Given the description of an element on the screen output the (x, y) to click on. 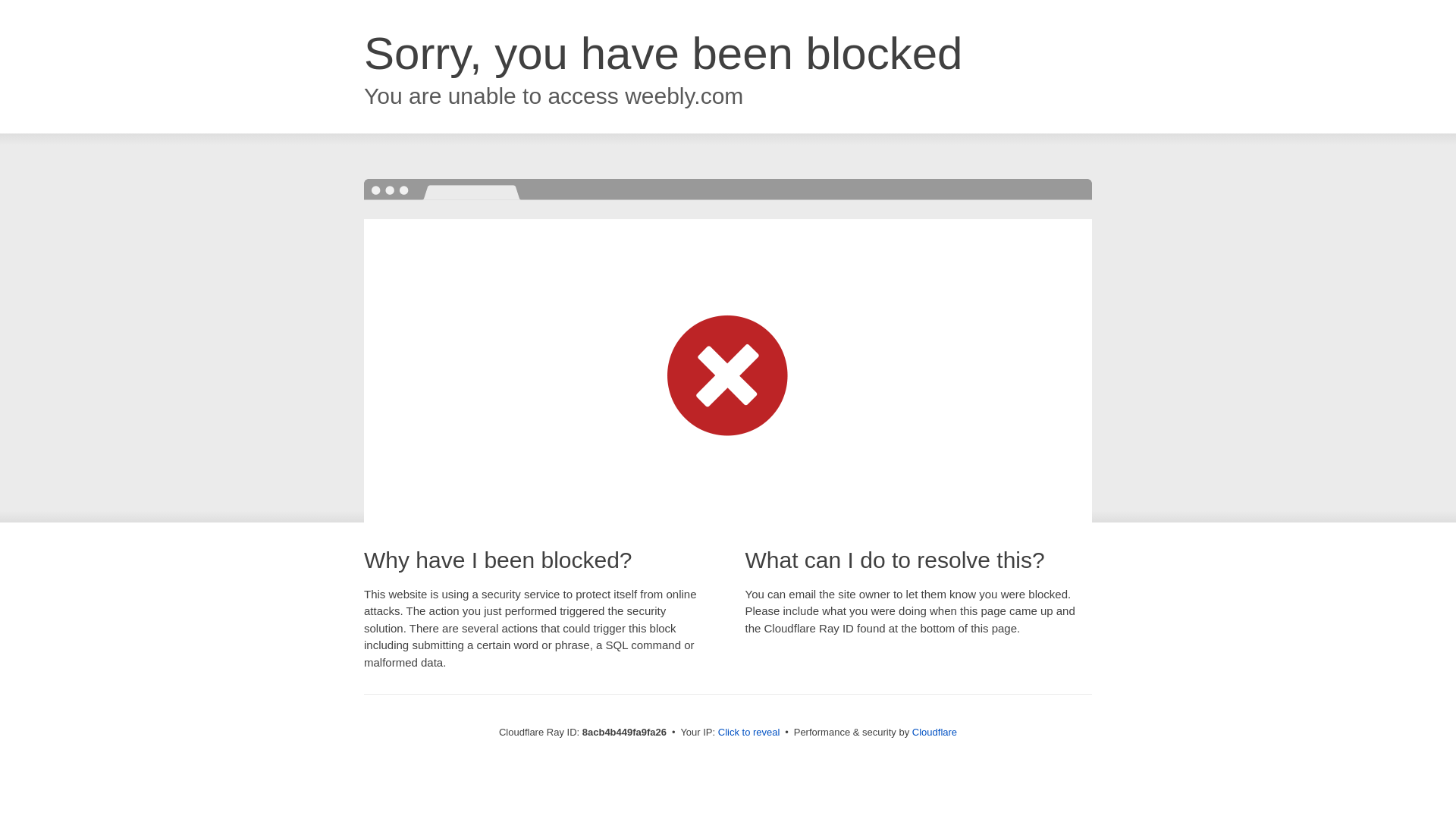
Click to reveal (748, 732)
Cloudflare (934, 731)
